Given the description of an element on the screen output the (x, y) to click on. 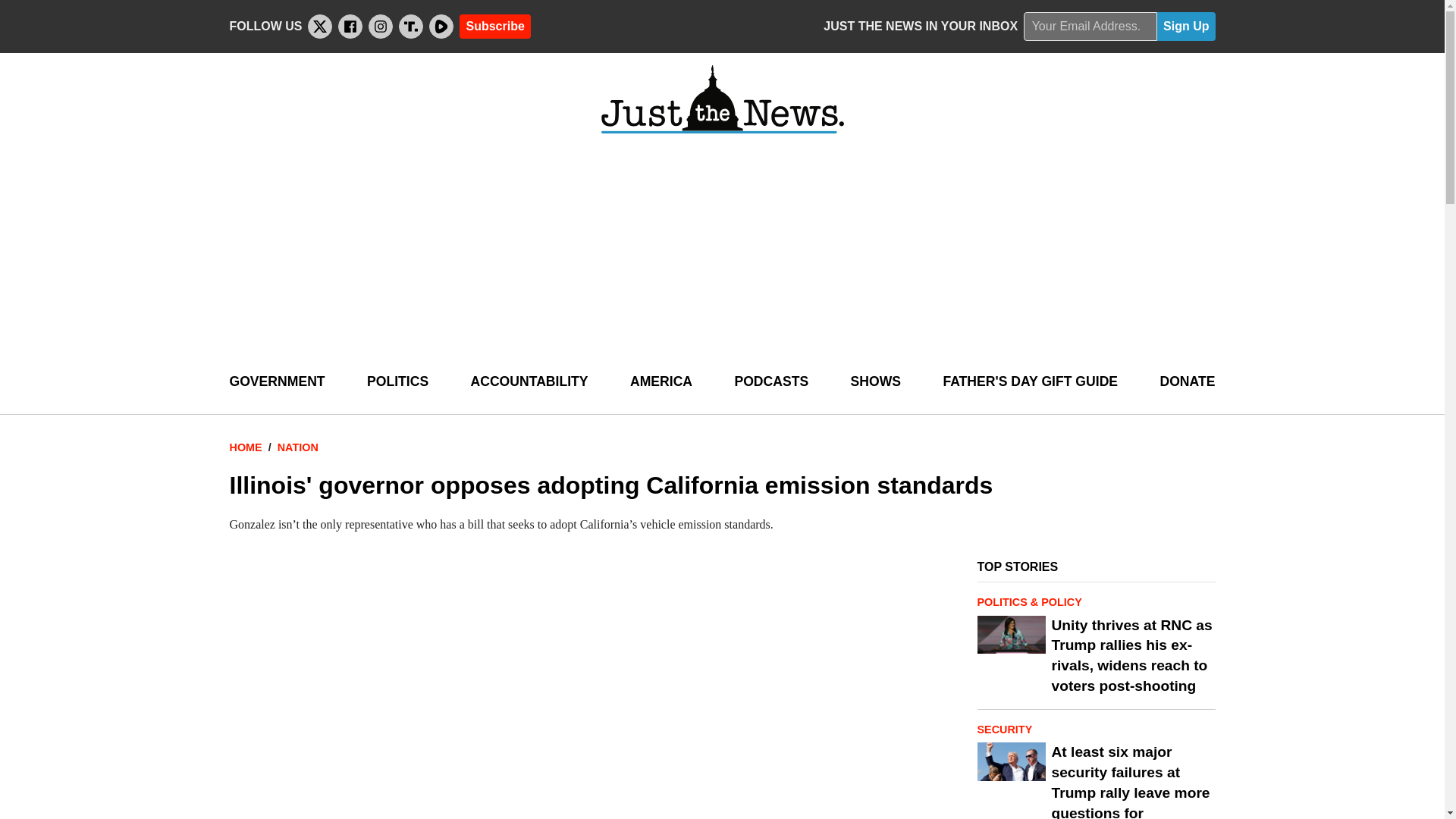
ACCOUNTABILITY (529, 381)
POLITICS (397, 381)
GOVERNMENT (276, 381)
Sign Up (1185, 26)
FATHER'S DAY GIFT GUIDE (1030, 381)
Sign Up (1185, 26)
Subscribe (494, 26)
SHOWS (875, 381)
DONATE (1186, 381)
PODCASTS (770, 381)
AMERICA (661, 381)
